Given the description of an element on the screen output the (x, y) to click on. 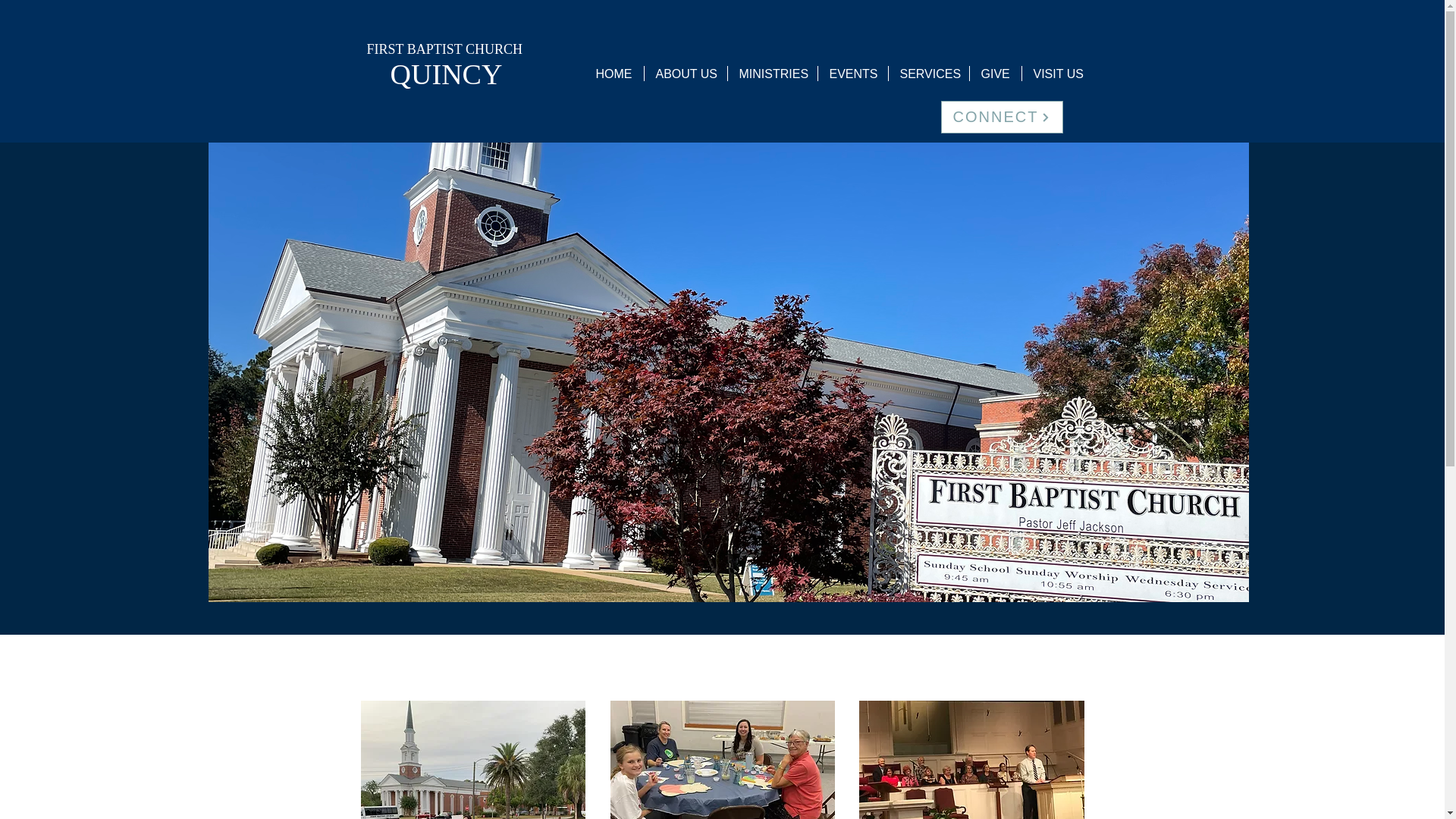
EVENTS (851, 73)
ABOUT US (685, 73)
GIVE (994, 73)
HOME (613, 73)
SERVICES (928, 73)
CONNECT (1001, 116)
MINISTRIES (772, 73)
VISIT US (1058, 73)
